Given the description of an element on the screen output the (x, y) to click on. 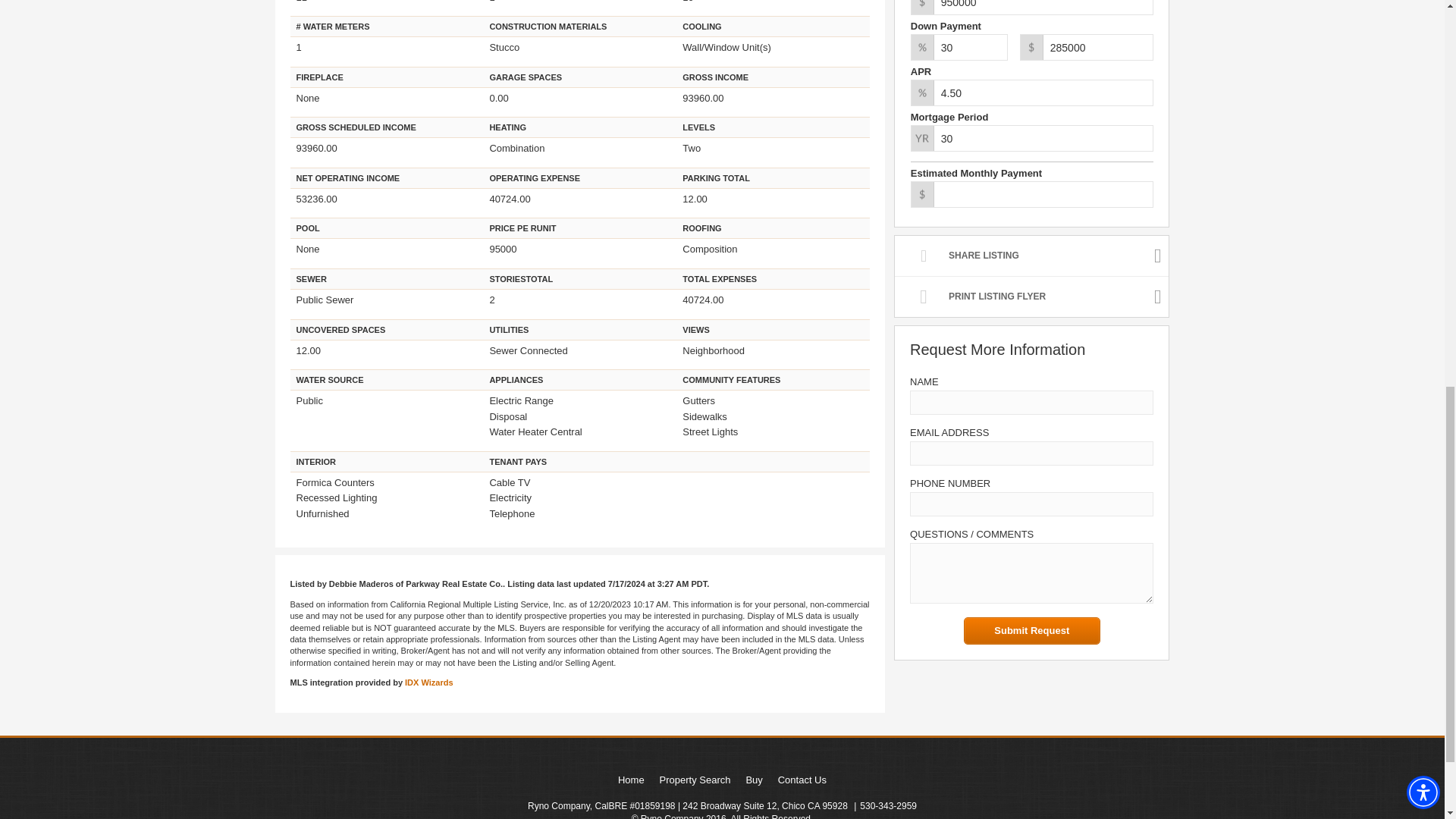
30 (959, 47)
IDX Wizards (428, 682)
950000 (1032, 7)
30 (1032, 138)
4.50 (1032, 92)
285000 (1086, 47)
SHARE LISTING (1032, 255)
PRINT LISTING FLYER (1032, 296)
